Given the description of an element on the screen output the (x, y) to click on. 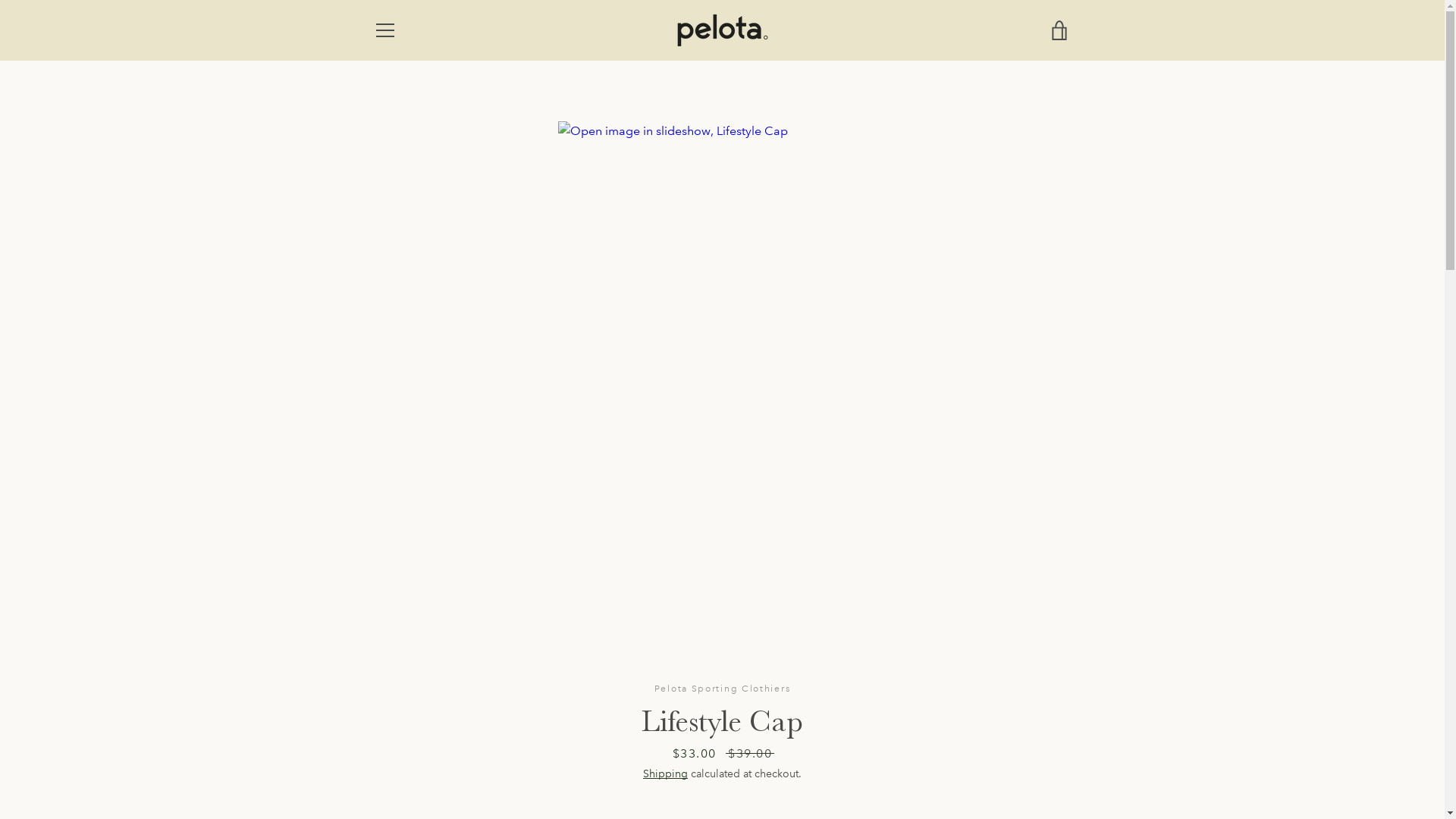
Skip to content Element type: text (0, 0)
VIEW CART Element type: text (1059, 30)
Shipping Element type: text (665, 773)
MENU Element type: text (384, 30)
